Given the description of an element on the screen output the (x, y) to click on. 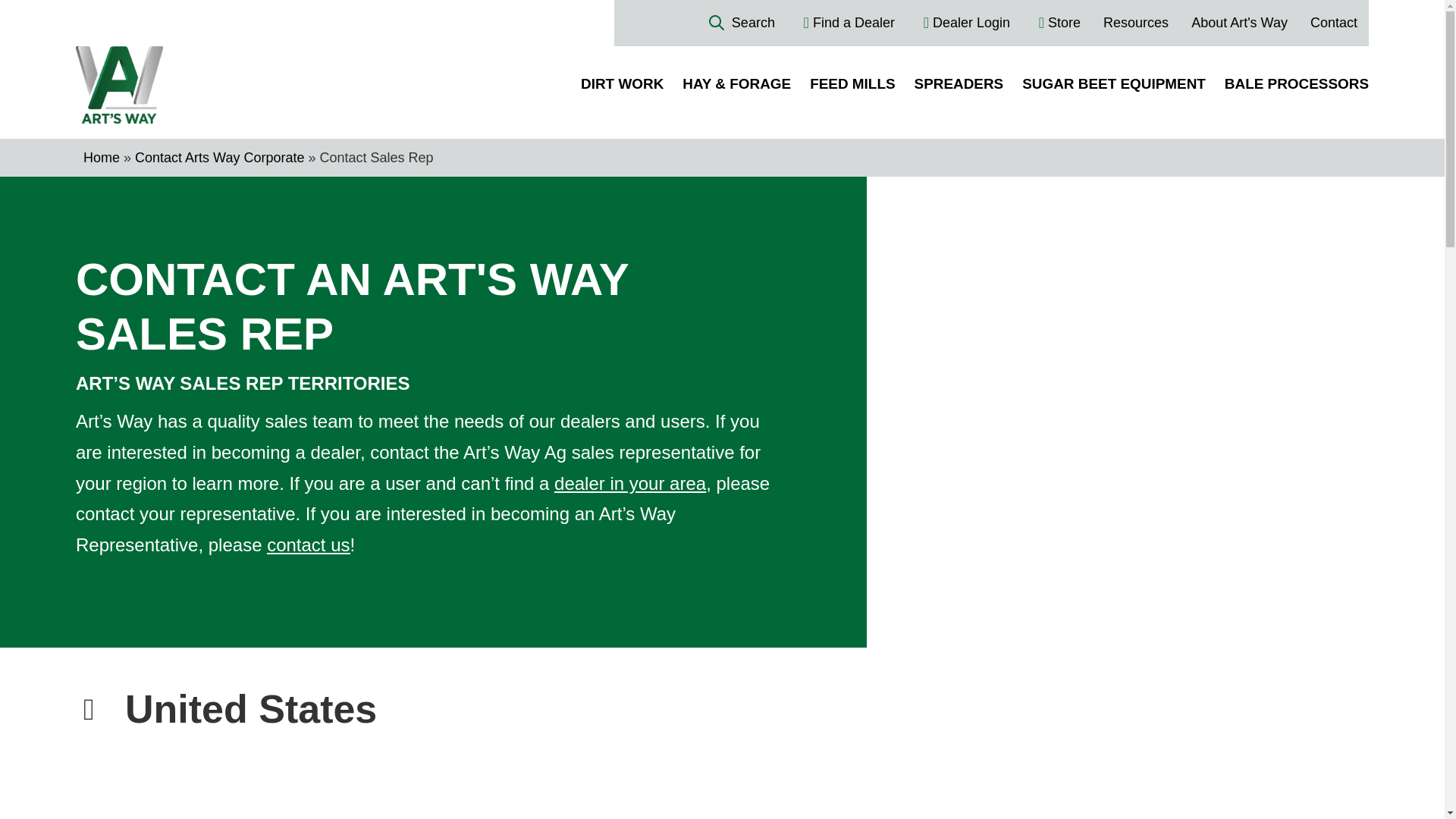
Store (1052, 23)
Find a Dealer (842, 23)
Dealer Login (960, 23)
Resources (1136, 23)
Search (741, 23)
Contact (1333, 23)
DIRT WORK (621, 83)
About Art's Way (1239, 23)
